Given the description of an element on the screen output the (x, y) to click on. 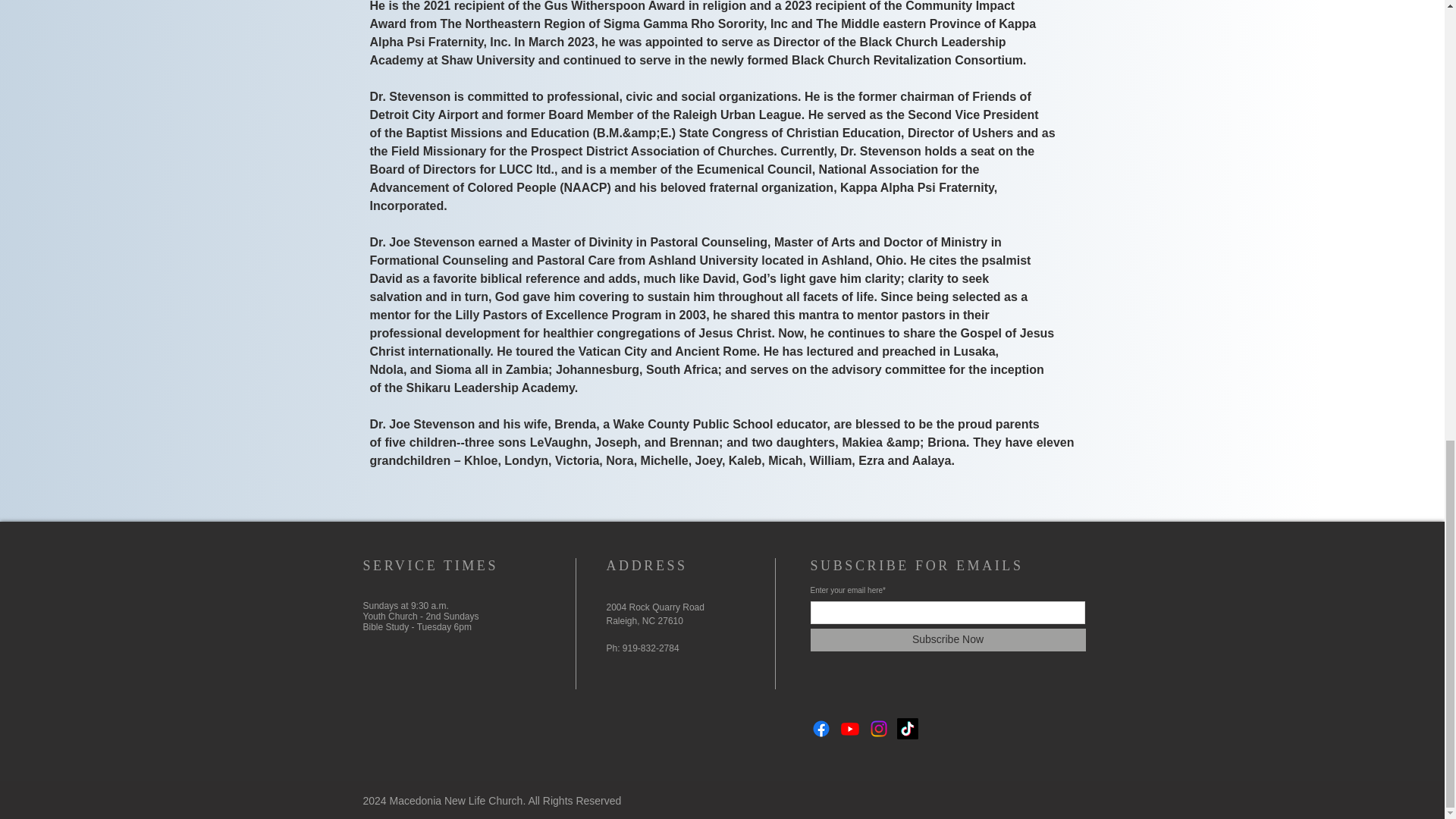
Subscribe Now (946, 639)
